Given the description of an element on the screen output the (x, y) to click on. 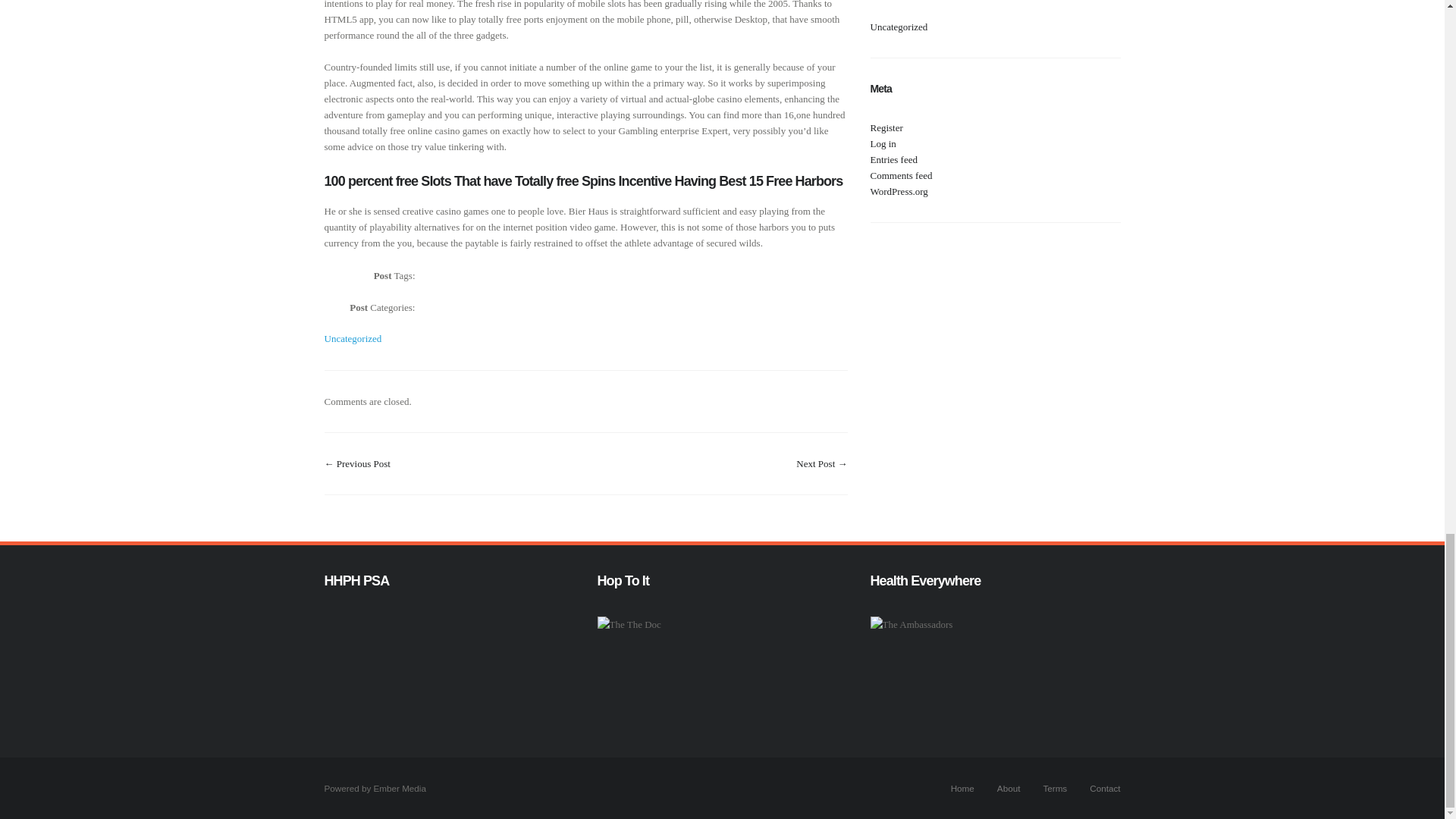
Uncategorized (352, 337)
